Given the description of an element on the screen output the (x, y) to click on. 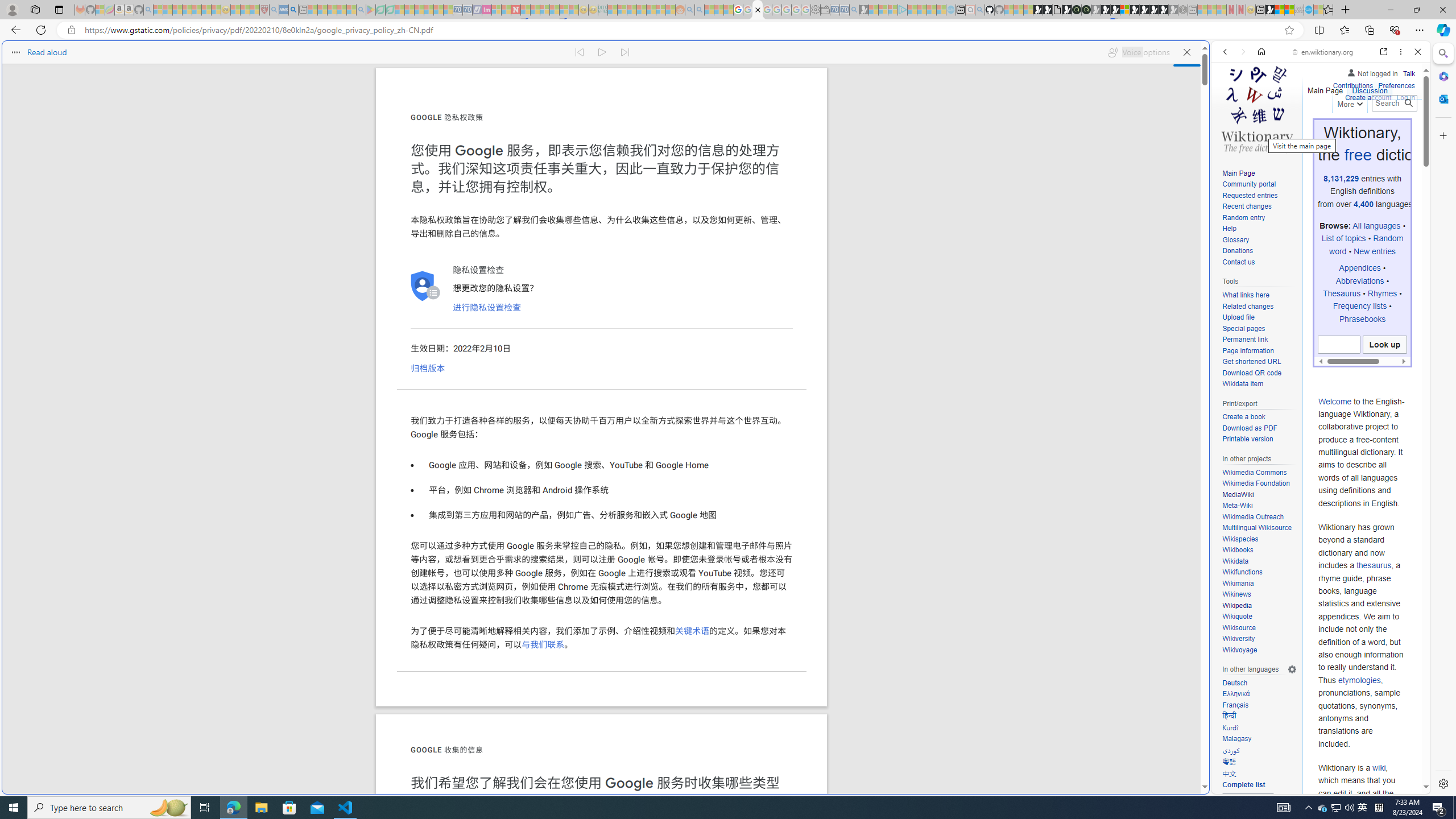
Wikiquote (1259, 616)
More (1349, 101)
Rhymes (1382, 293)
